Given the description of an element on the screen output the (x, y) to click on. 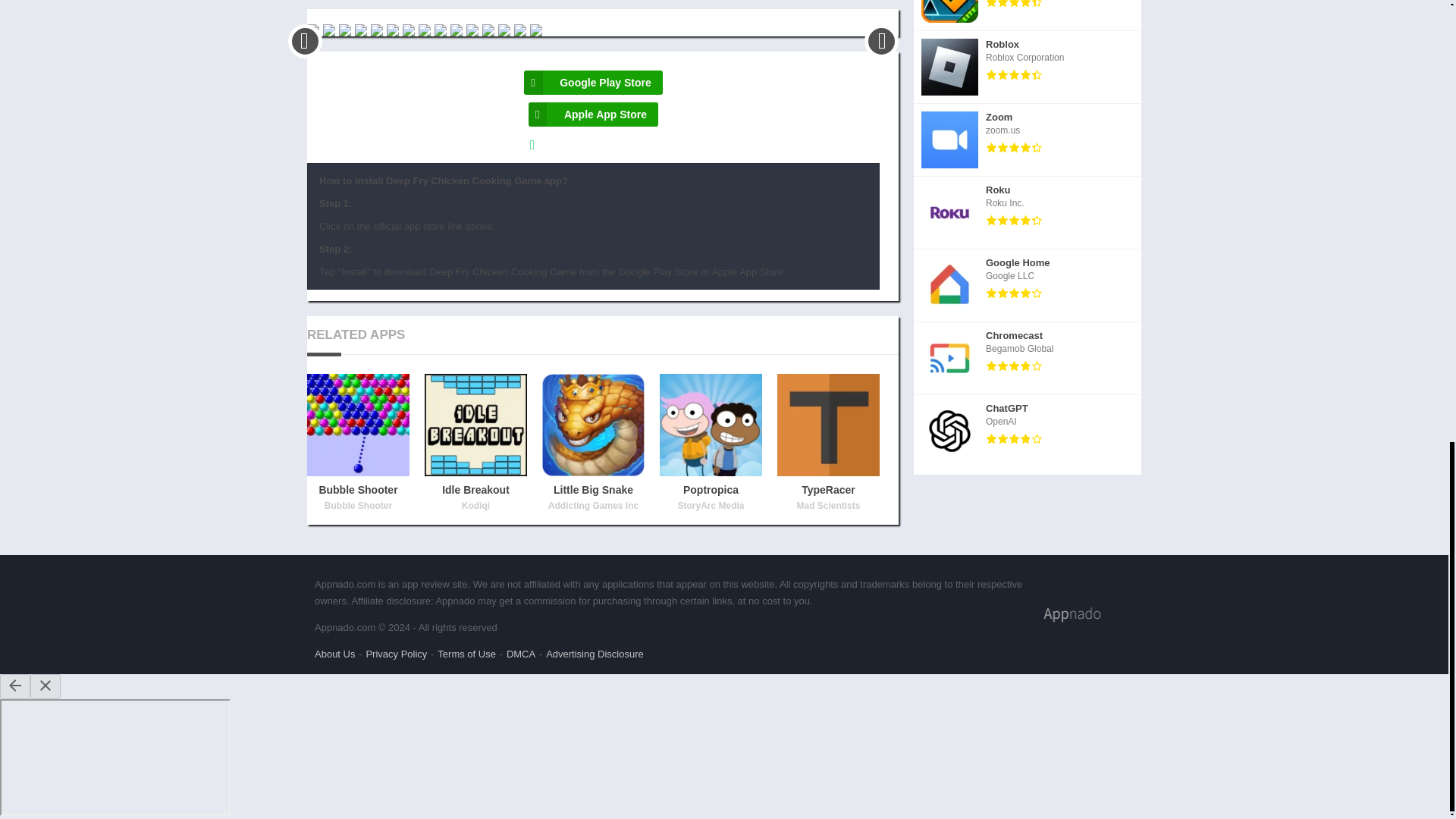
Apple App Store (593, 114)
Google Play Store (1027, 15)
